Given the description of an element on the screen output the (x, y) to click on. 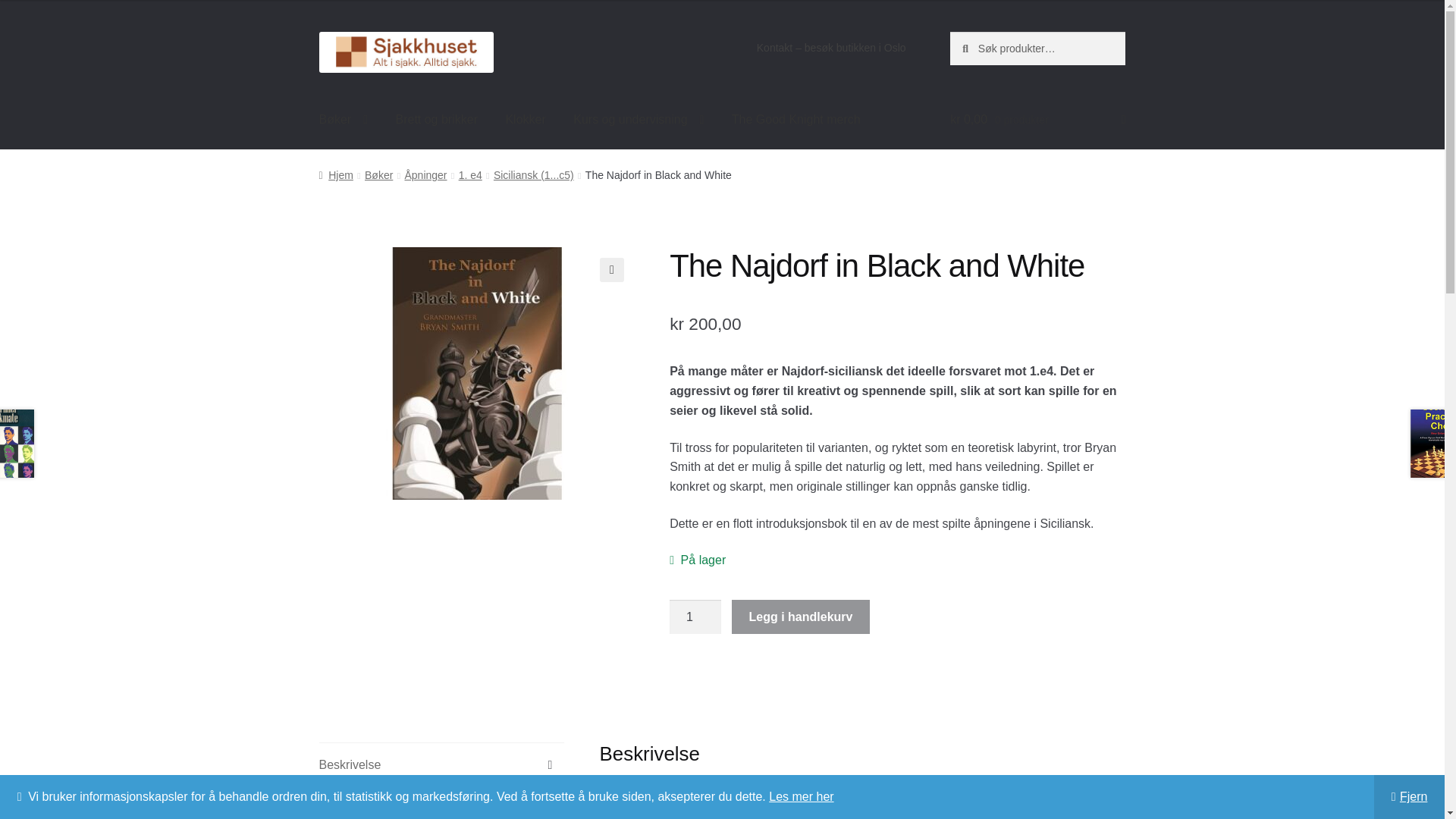
Klokker (525, 119)
Kurs og undervisning (638, 119)
1 (694, 616)
7813 (476, 373)
Brett og brikker (435, 119)
Se din handlekurv (1037, 119)
The Good Knight merch (795, 119)
